Given the description of an element on the screen output the (x, y) to click on. 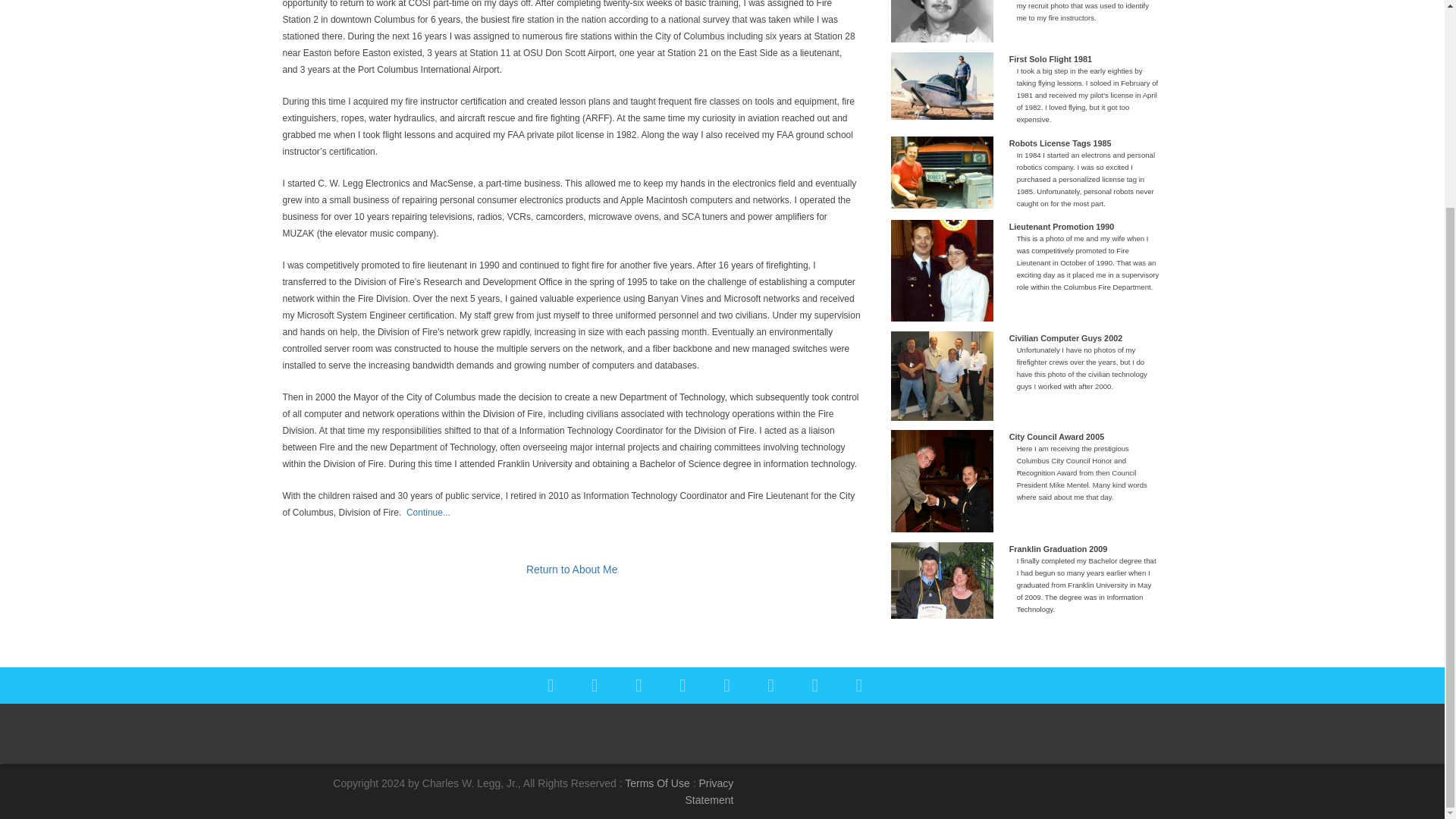
Robots License Tags 1985 (941, 172)
City Council Award 2005  (941, 480)
Return to About Me (571, 570)
Continue... (427, 511)
CFD Recruit Legg 1980 (941, 21)
Franklin Graduation 2009 (941, 580)
First Solo Flight 1981 (941, 85)
Civilian Computer Guys 2002 (941, 375)
Lieutenant Promotion 1990 (941, 270)
